Given the description of an element on the screen output the (x, y) to click on. 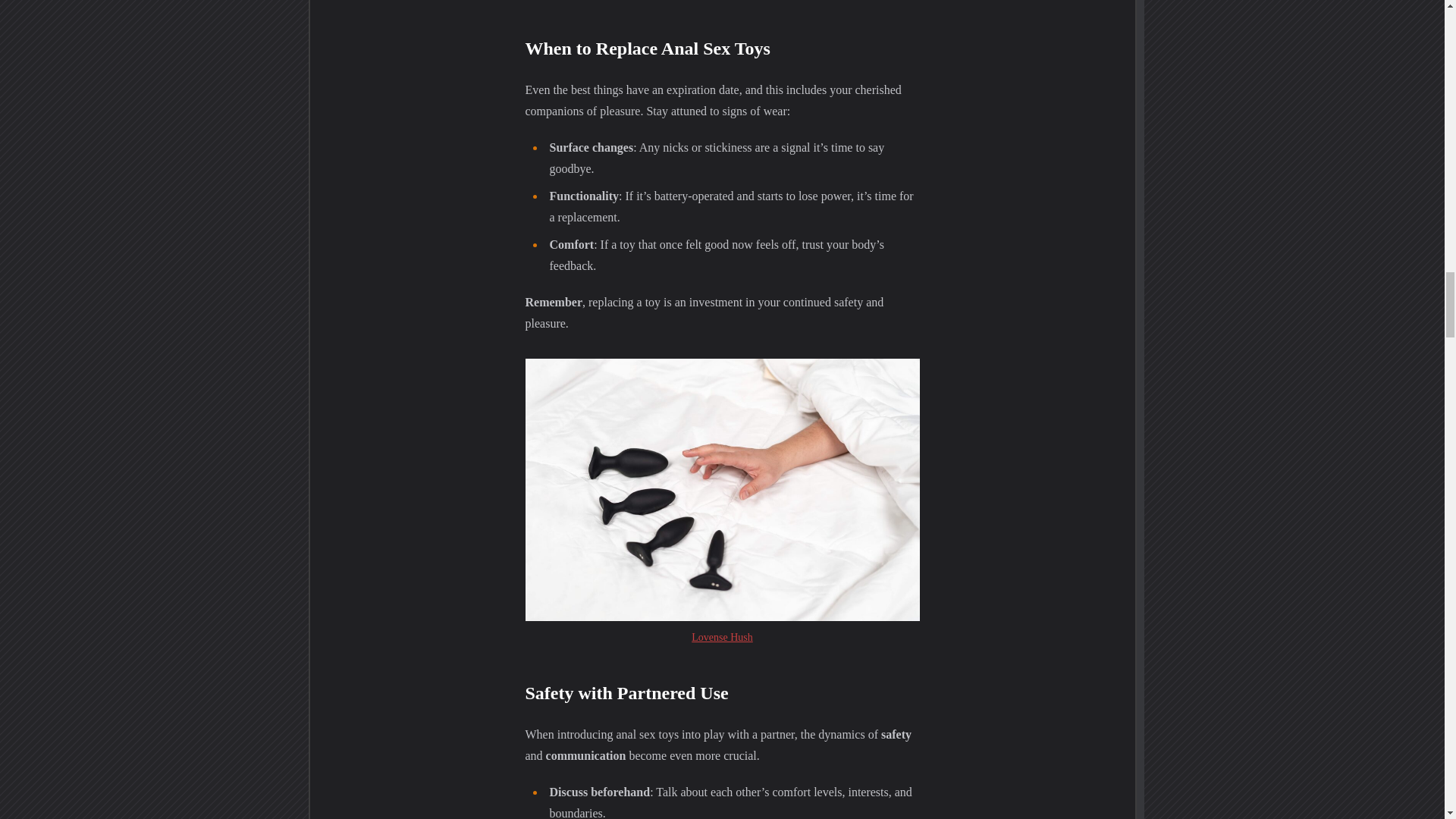
Lovense Hush (721, 636)
